Given the description of an element on the screen output the (x, y) to click on. 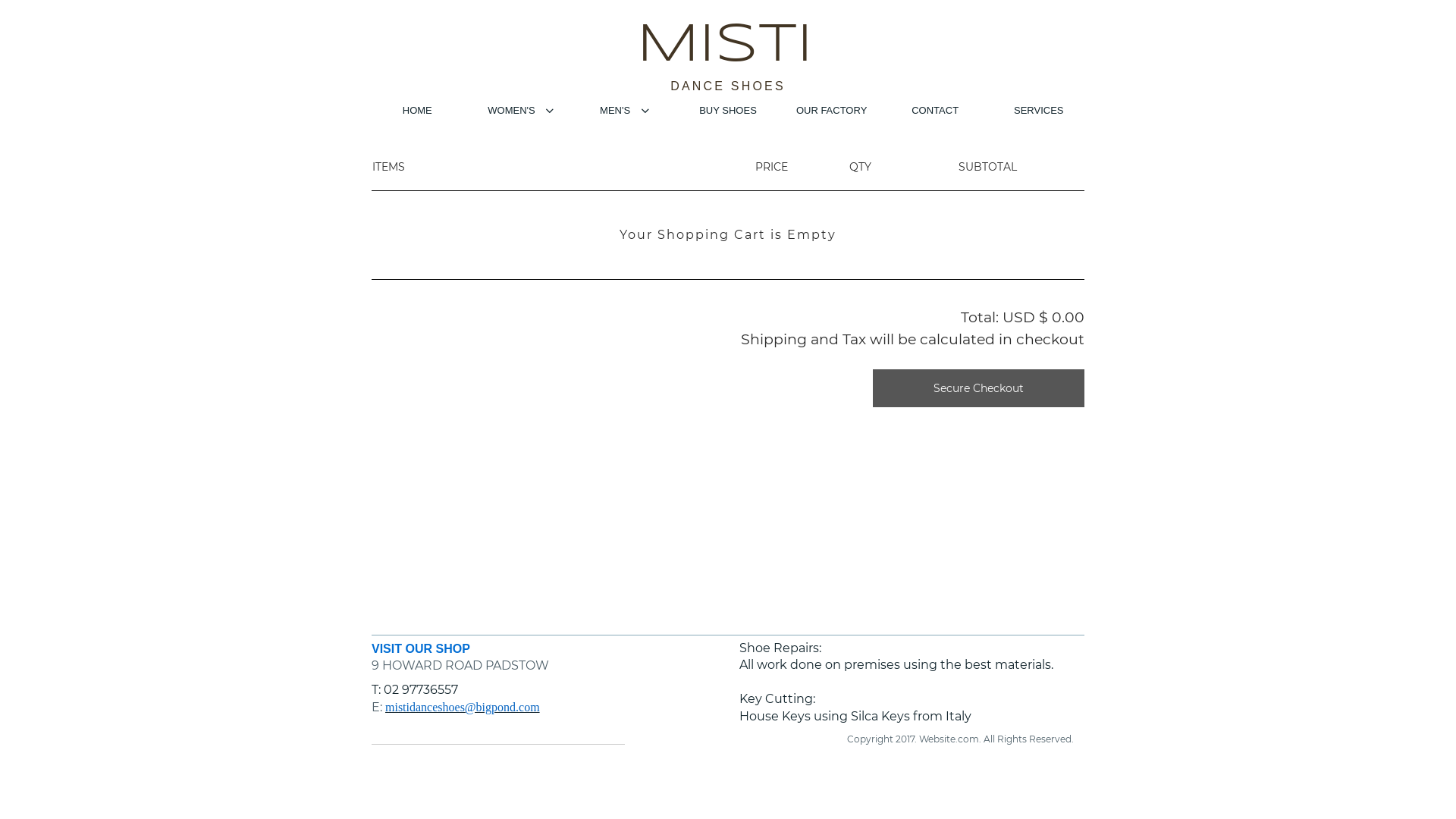
CONTACT Element type: text (935, 112)
SERVICES Element type: text (1038, 112)
MEN'S Element type: text (624, 112)
Secure Checkout Element type: text (978, 388)
OUR FACTORY Element type: text (831, 112)
mistidanceshoes@bigpond.com Element type: text (462, 706)
HOME Element type: text (417, 112)
BUY SHOES Element type: text (728, 112)
WOMEN'S Element type: text (520, 112)
